Given the description of an element on the screen output the (x, y) to click on. 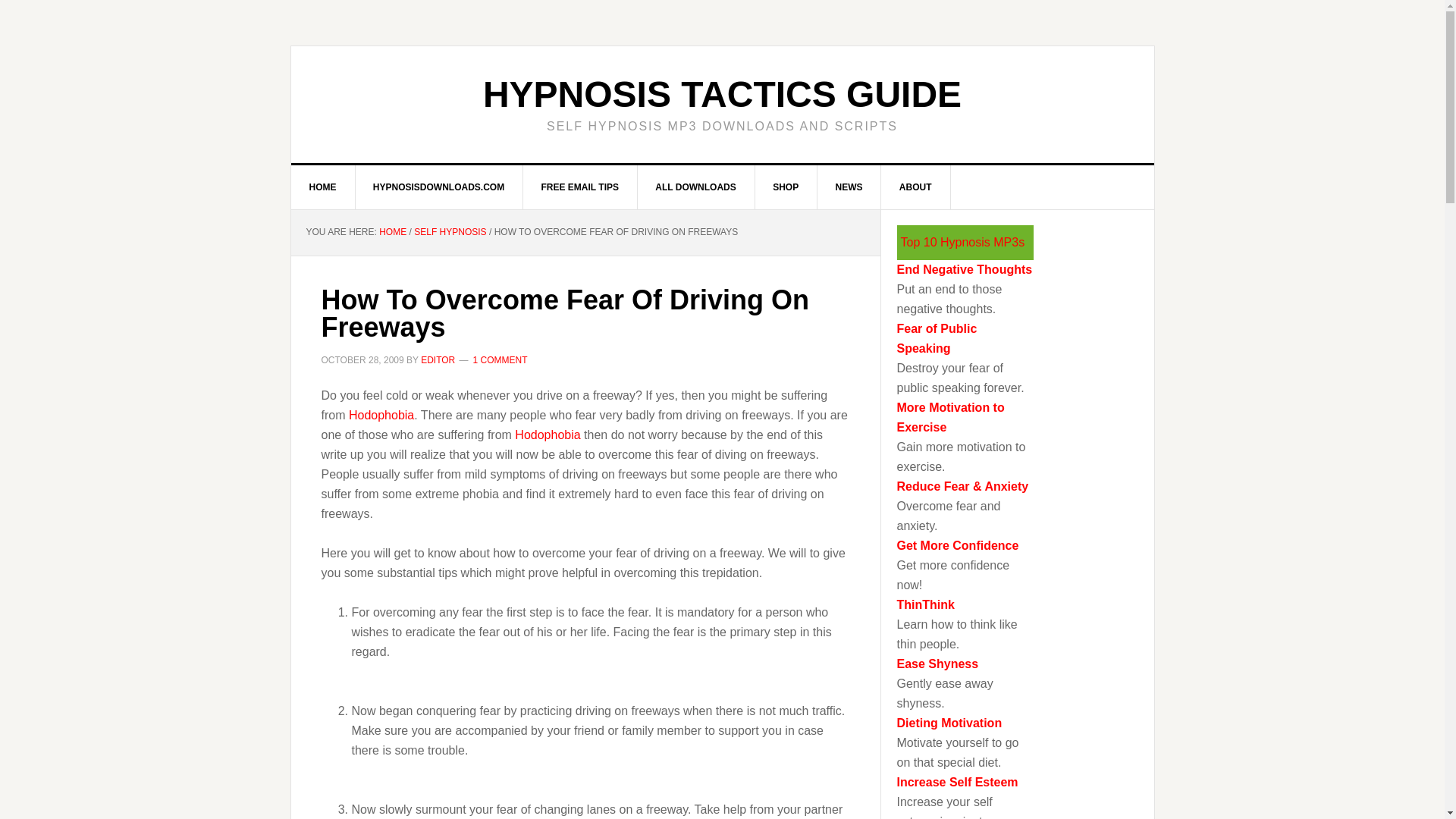
FREE EMAIL TIPS (579, 187)
ALL DOWNLOADS (695, 187)
SHOP (785, 187)
End Negative Thoughts (964, 269)
Fear of Public Speaking (936, 338)
NEWS (848, 187)
Top 10 Hypnosis MP3s (963, 241)
ABOUT (915, 187)
HYPNOSISDOWNLOADS.COM (438, 187)
1 COMMENT (500, 359)
